Given the description of an element on the screen output the (x, y) to click on. 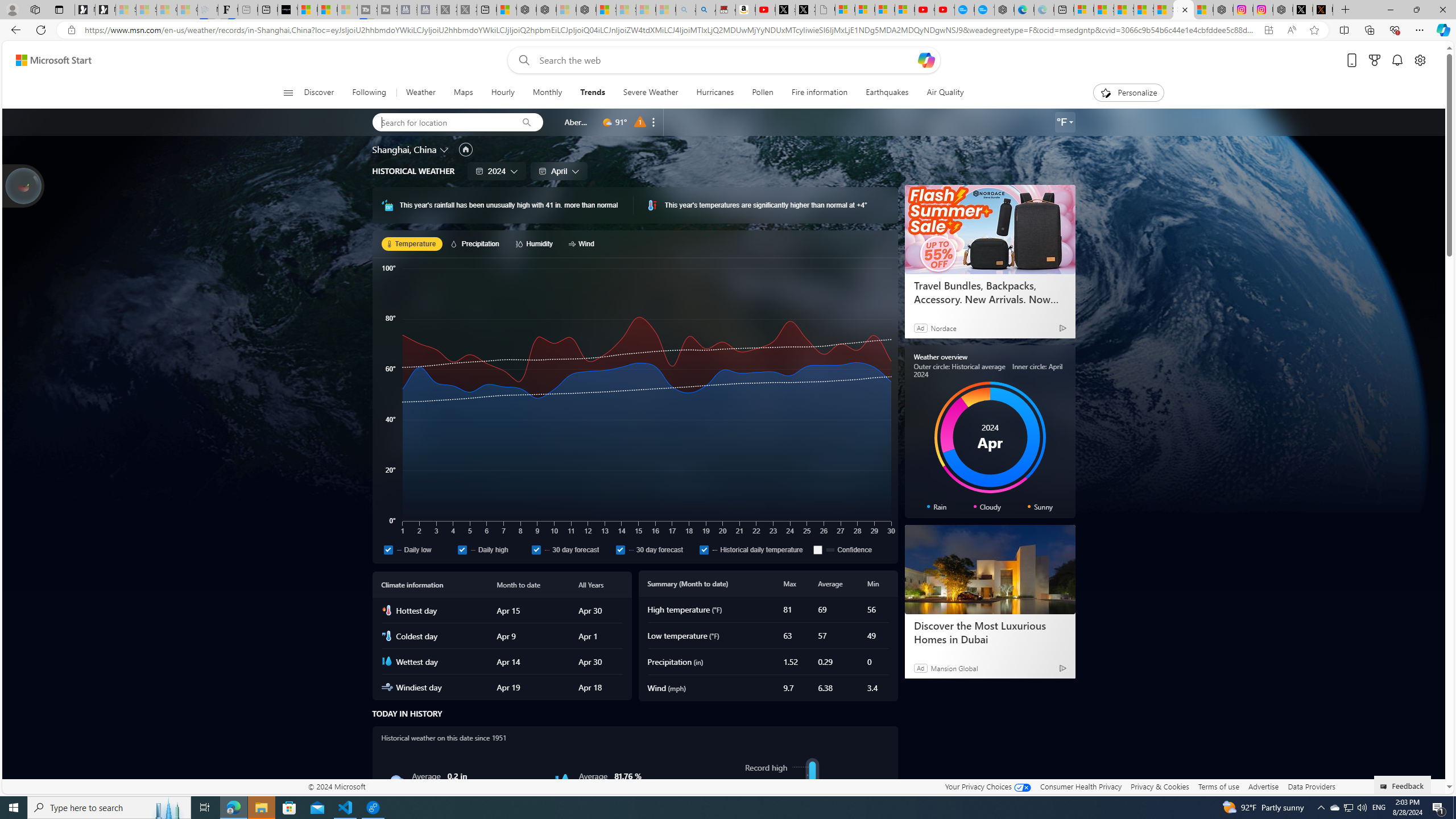
Personalize (1128, 92)
Daily low (417, 549)
Terms of use (1218, 786)
Join us in planting real trees to help our planet! (23, 185)
Fire information (818, 92)
Severe Weather (650, 92)
